Given the description of an element on the screen output the (x, y) to click on. 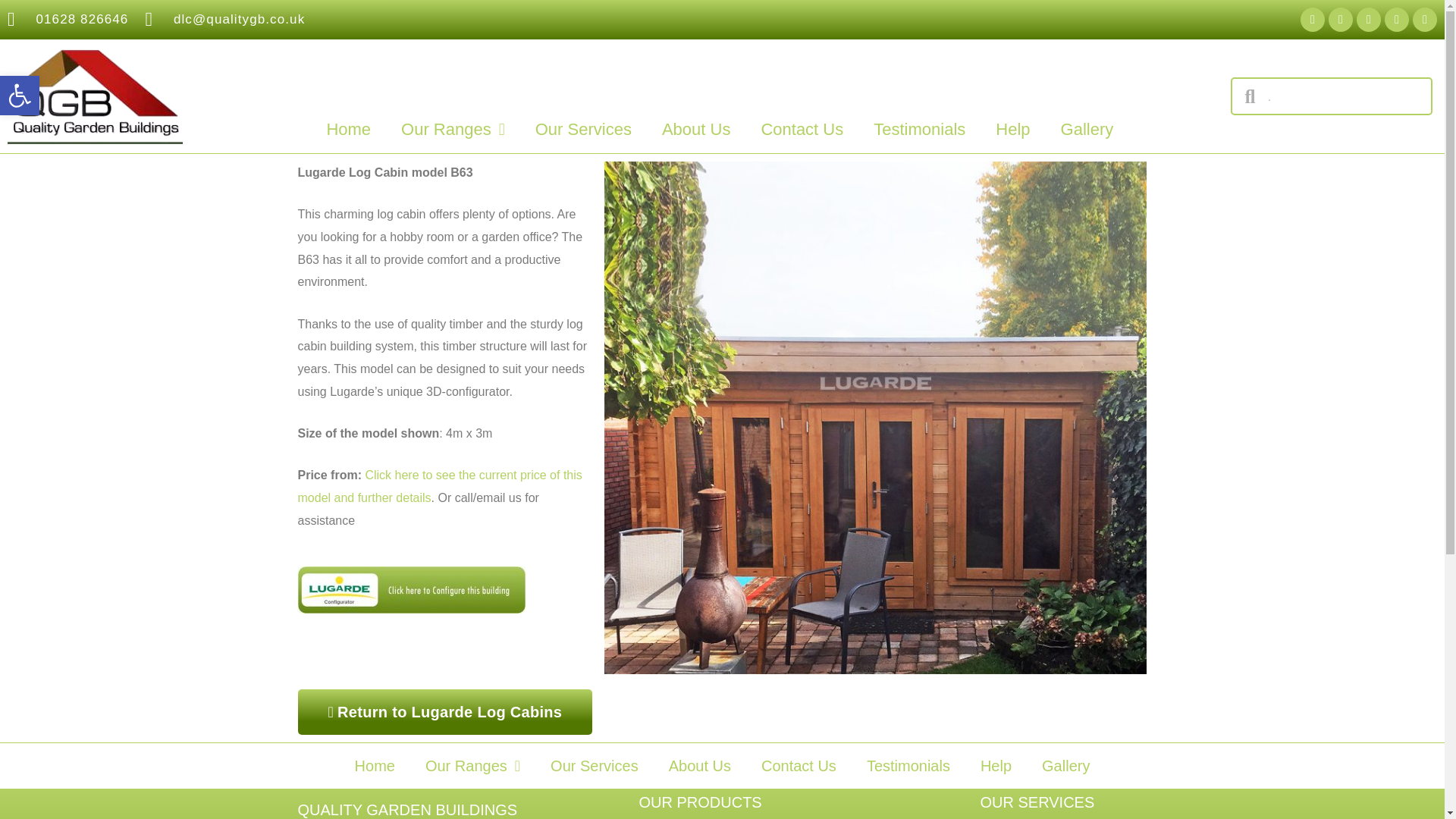
Testimonials (919, 129)
Accessibility Tools (19, 95)
Gallery (1087, 129)
Phone (1312, 19)
Our Services (582, 129)
Help (1012, 129)
Instagram (1424, 19)
Accessibility Tools (19, 95)
About Us (695, 129)
Youtube (1396, 19)
Contact Us (802, 129)
Our Ranges (452, 129)
Home (348, 129)
Facebook (19, 95)
